Given the description of an element on the screen output the (x, y) to click on. 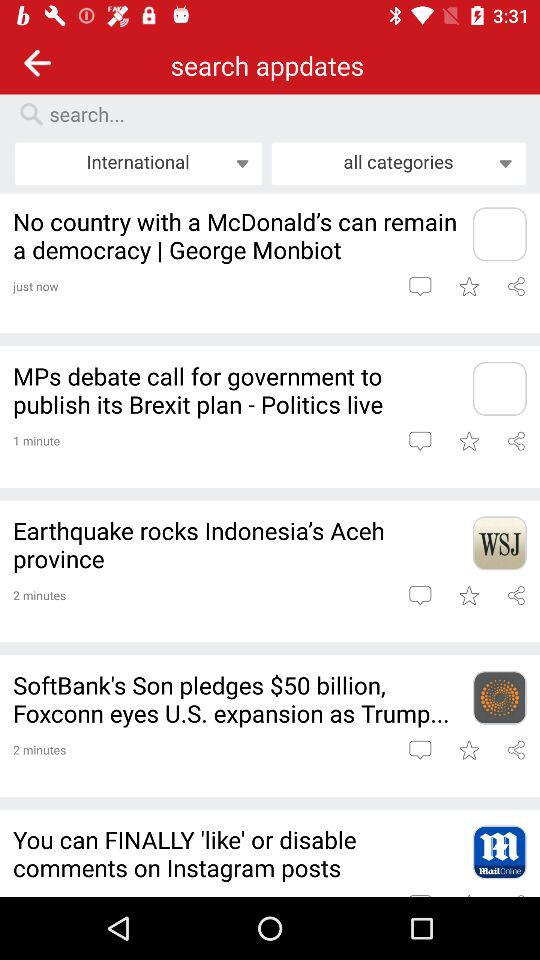
share article (515, 749)
